Given the description of an element on the screen output the (x, y) to click on. 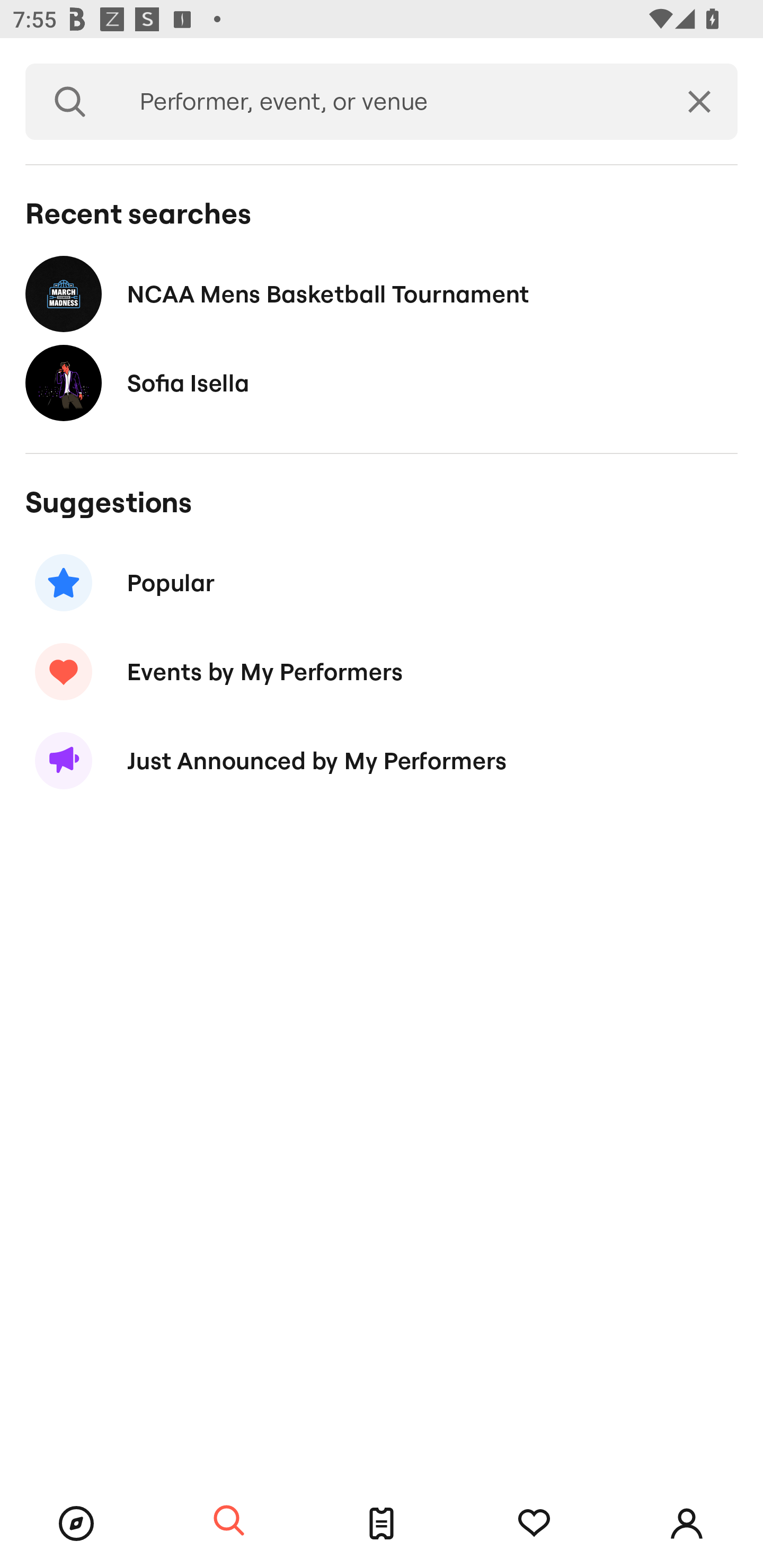
Search (69, 101)
Performer, event, or venue (387, 101)
Clear (699, 101)
NCAA Mens Basketball Tournament (381, 293)
Sofia Isella (381, 383)
Popular (381, 582)
Events by My Performers (381, 671)
Just Announced by My Performers (381, 760)
Browse (76, 1523)
Search (228, 1521)
Tickets (381, 1523)
Tracking (533, 1523)
Account (686, 1523)
